Given the description of an element on the screen output the (x, y) to click on. 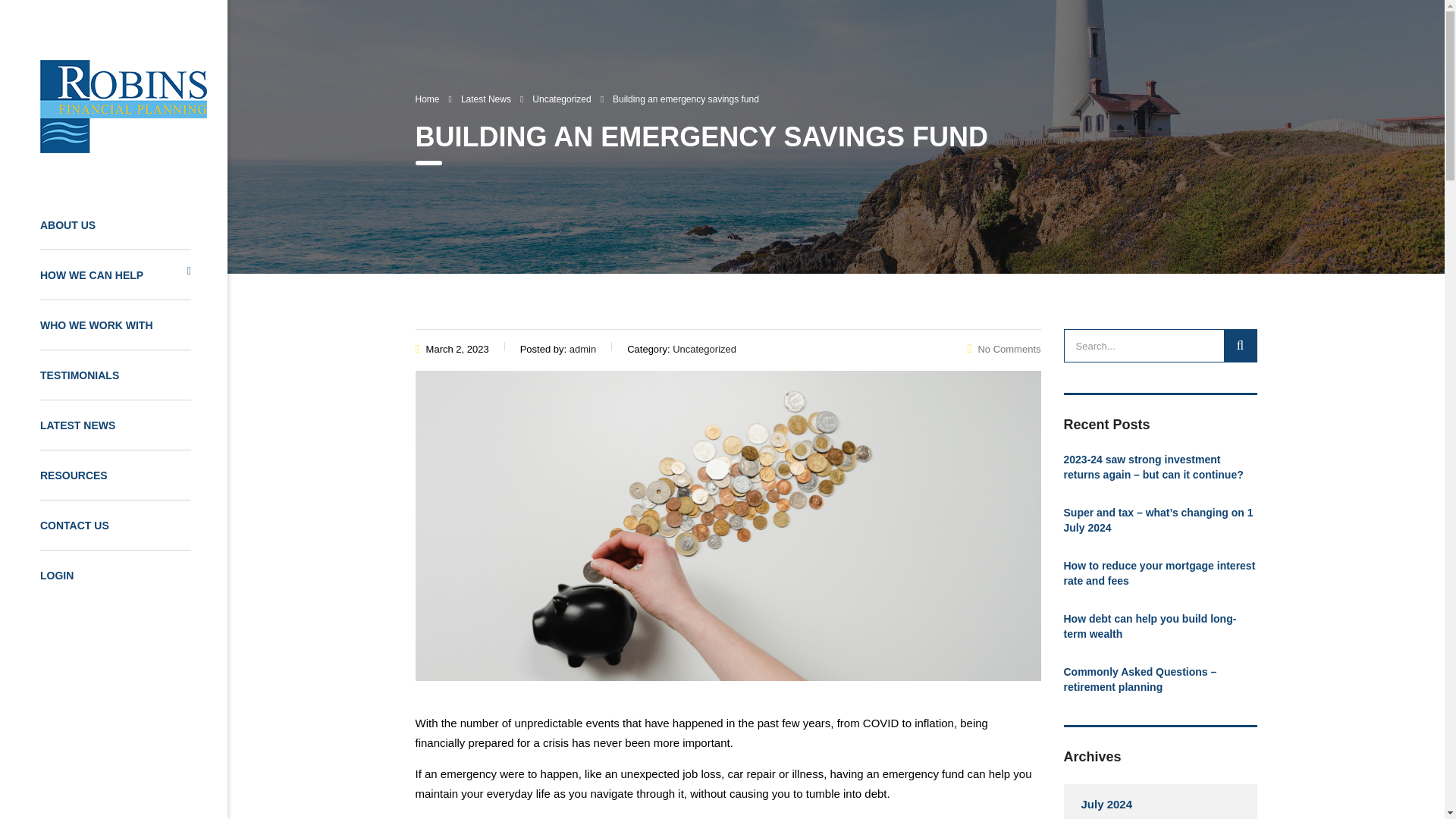
Go to Latest News. (486, 99)
No Comments (1004, 348)
HOW WE CAN HELP (115, 274)
Uncategorized (561, 99)
Go to the Uncategorized category archives. (561, 99)
Latest News (486, 99)
Go to Robins Financial Planning. (426, 99)
TESTIMONIALS (115, 374)
LATEST NEWS (115, 424)
LOGIN (115, 574)
WHO WE WORK WITH (115, 324)
Home (426, 99)
RESOURCES (115, 474)
ABOUT US (115, 224)
CONTACT US (115, 524)
